Given the description of an element on the screen output the (x, y) to click on. 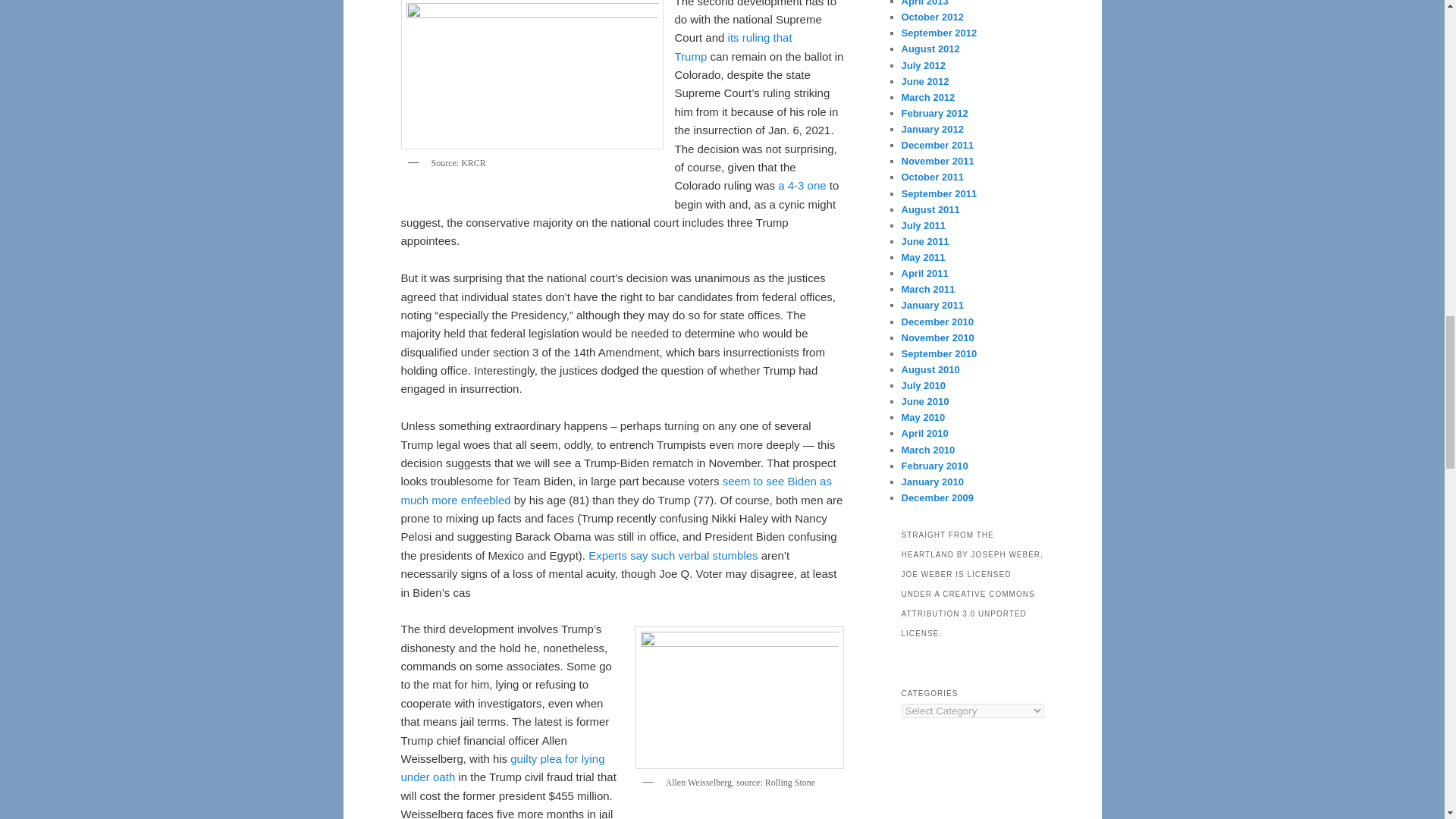
Experts say such verbal stumbles (672, 554)
a 4-3 one (801, 185)
 its ruling that Trump (733, 46)
seem to see Biden as much more enfeebled (615, 490)
guilty plea for lying under oath (502, 767)
